Given the description of an element on the screen output the (x, y) to click on. 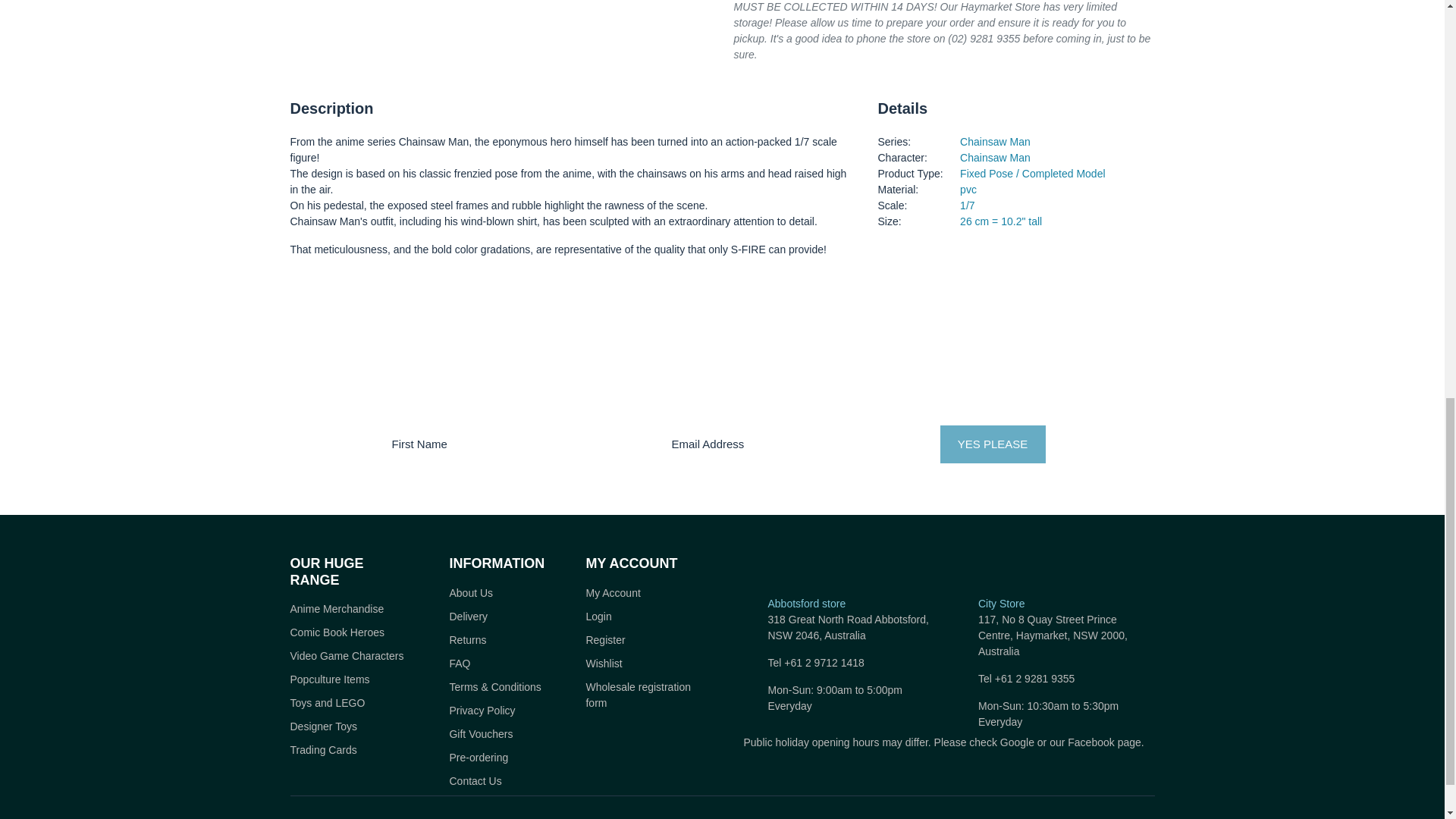
YES PLEASE (992, 444)
